Given the description of an element on the screen output the (x, y) to click on. 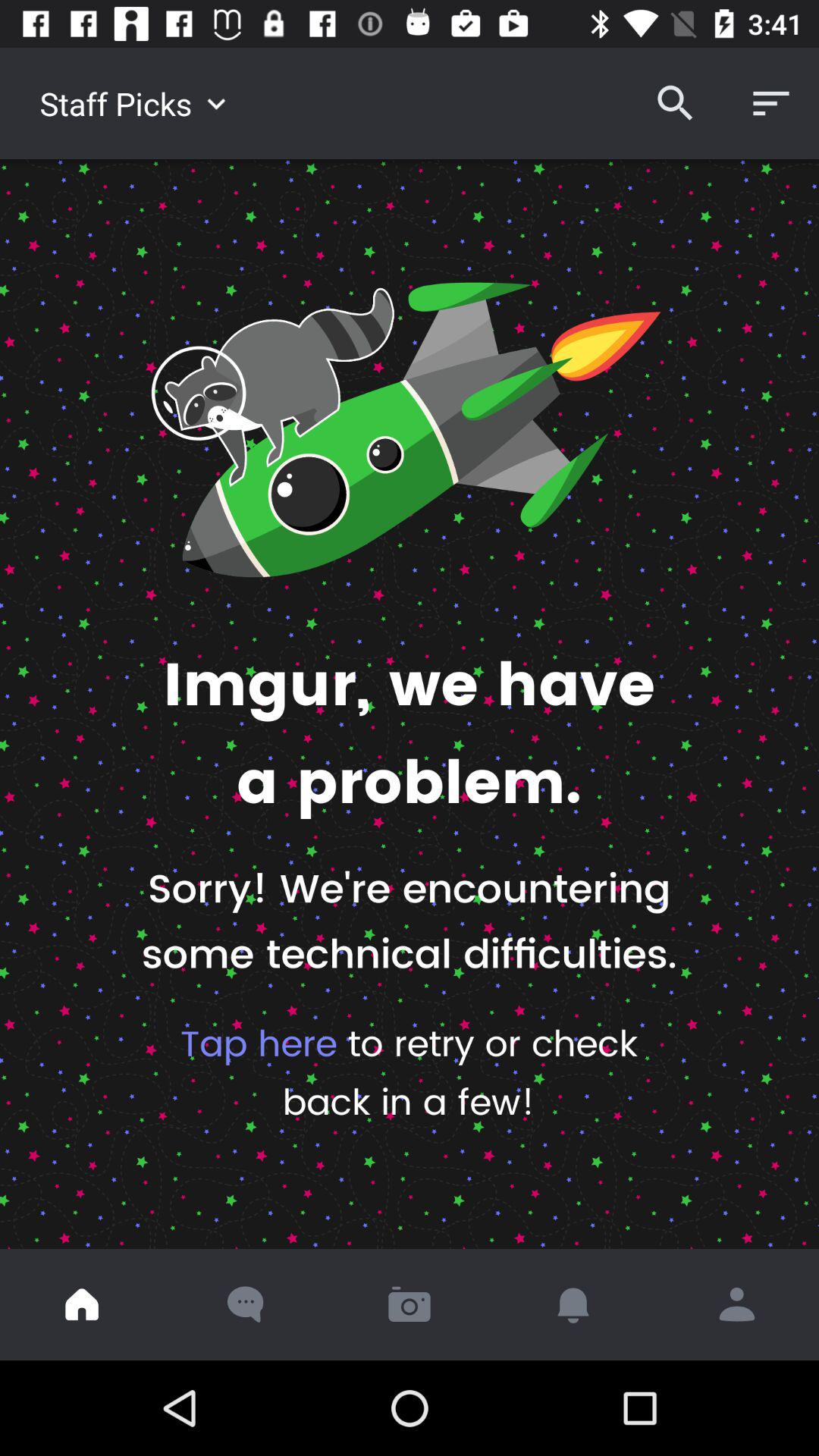
click item below the tap here to (81, 1304)
